Given the description of an element on the screen output the (x, y) to click on. 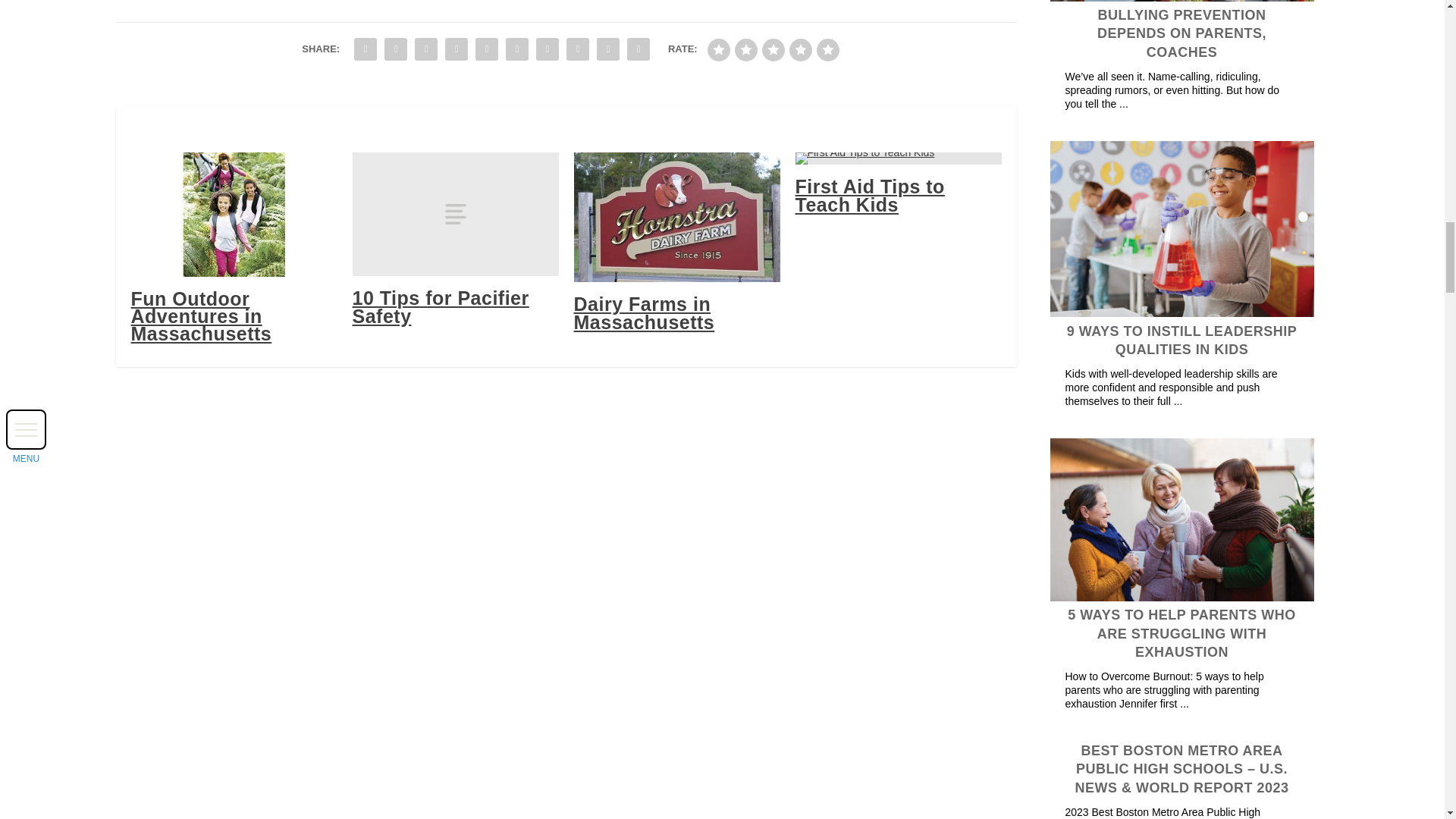
Share "Rate Your Earth-Friendly Efforts" via LinkedIn (517, 49)
Share "Rate Your Earth-Friendly Efforts" via Tumblr (456, 49)
Share "Rate Your Earth-Friendly Efforts" via Pinterest (486, 49)
Share "Rate Your Earth-Friendly Efforts" via Buffer (547, 49)
Share "Rate Your Earth-Friendly Efforts" via Facebook (365, 49)
Share "Rate Your Earth-Friendly Efforts" via Twitter (395, 49)
